Given the description of an element on the screen output the (x, y) to click on. 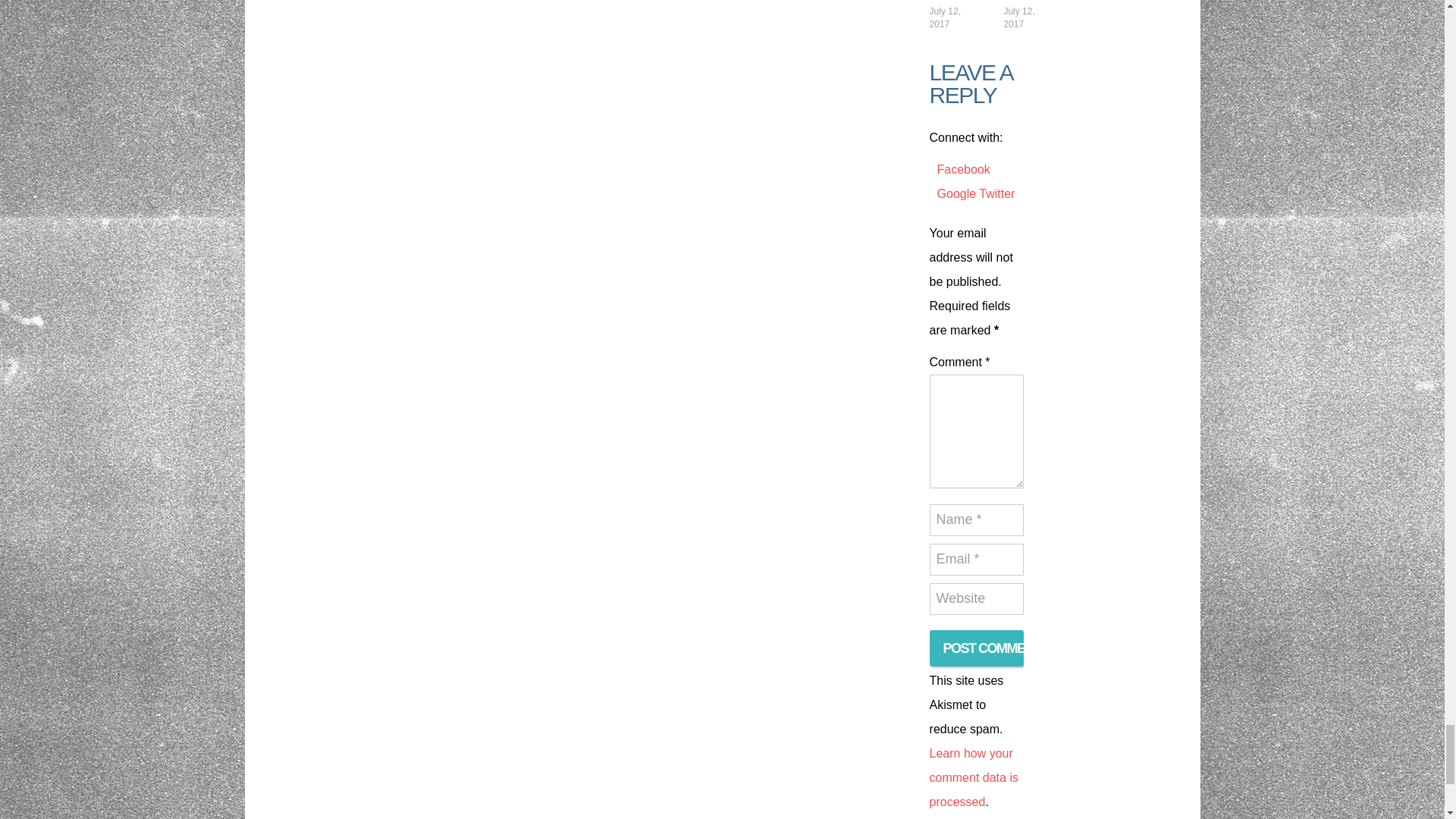
Connect with Twitter (996, 193)
Connect with Google (958, 193)
Connect with Facebook (963, 169)
Post Comment (977, 647)
Girls Trip: The Female-Driven Comedy We Need (957, 0)
